Given the description of an element on the screen output the (x, y) to click on. 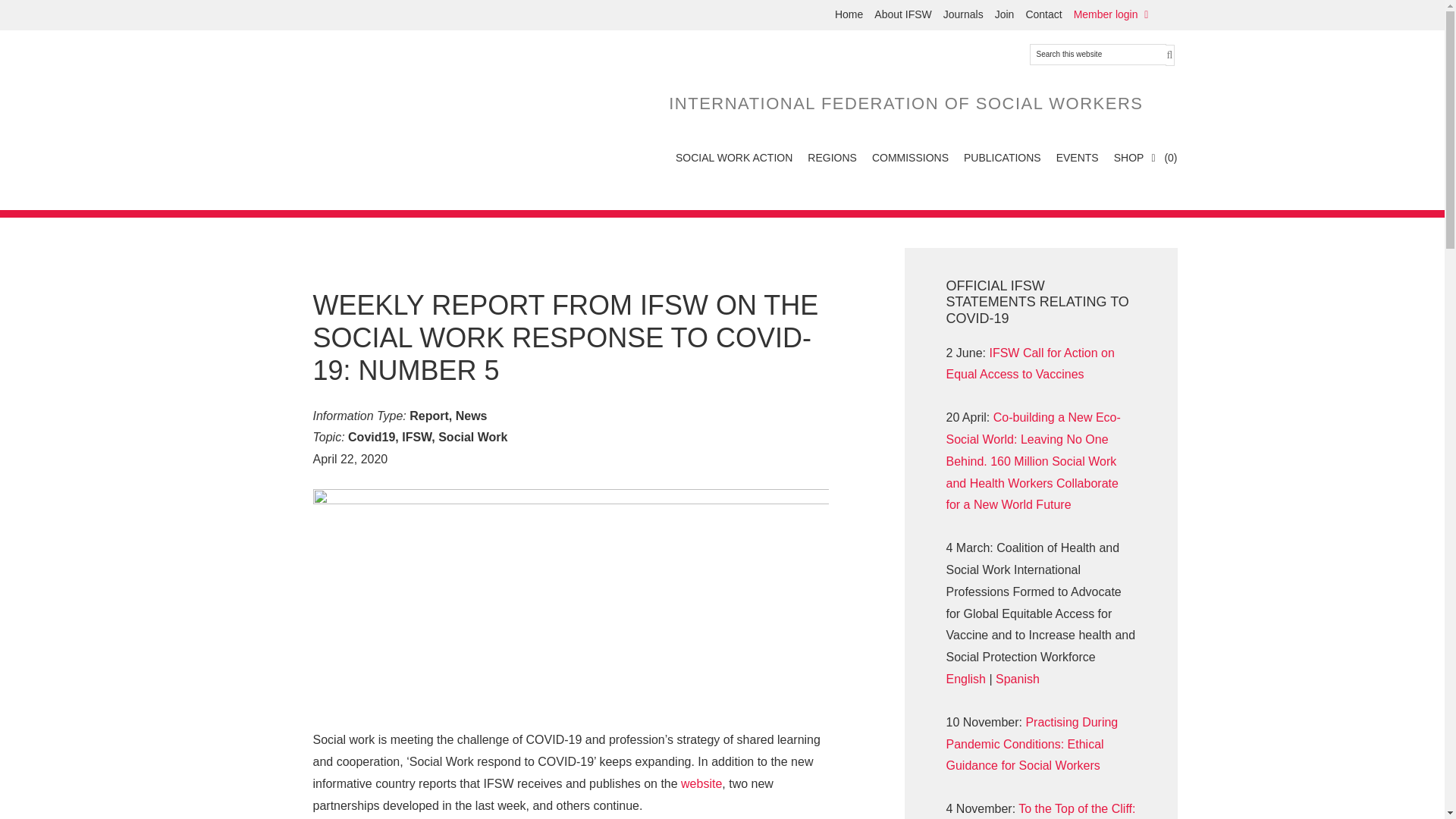
About IFSW (897, 14)
Start shopping (1163, 157)
Member login (1108, 14)
SOCIAL WORK ACTION (733, 157)
Join (999, 14)
International Federation of Social Workers (357, 97)
Contact (1037, 14)
Home (843, 14)
Facebook (277, 15)
REGIONS (831, 157)
X (332, 15)
Linkedin (386, 15)
Instagram (305, 15)
Youtube (360, 15)
